Given the description of an element on the screen output the (x, y) to click on. 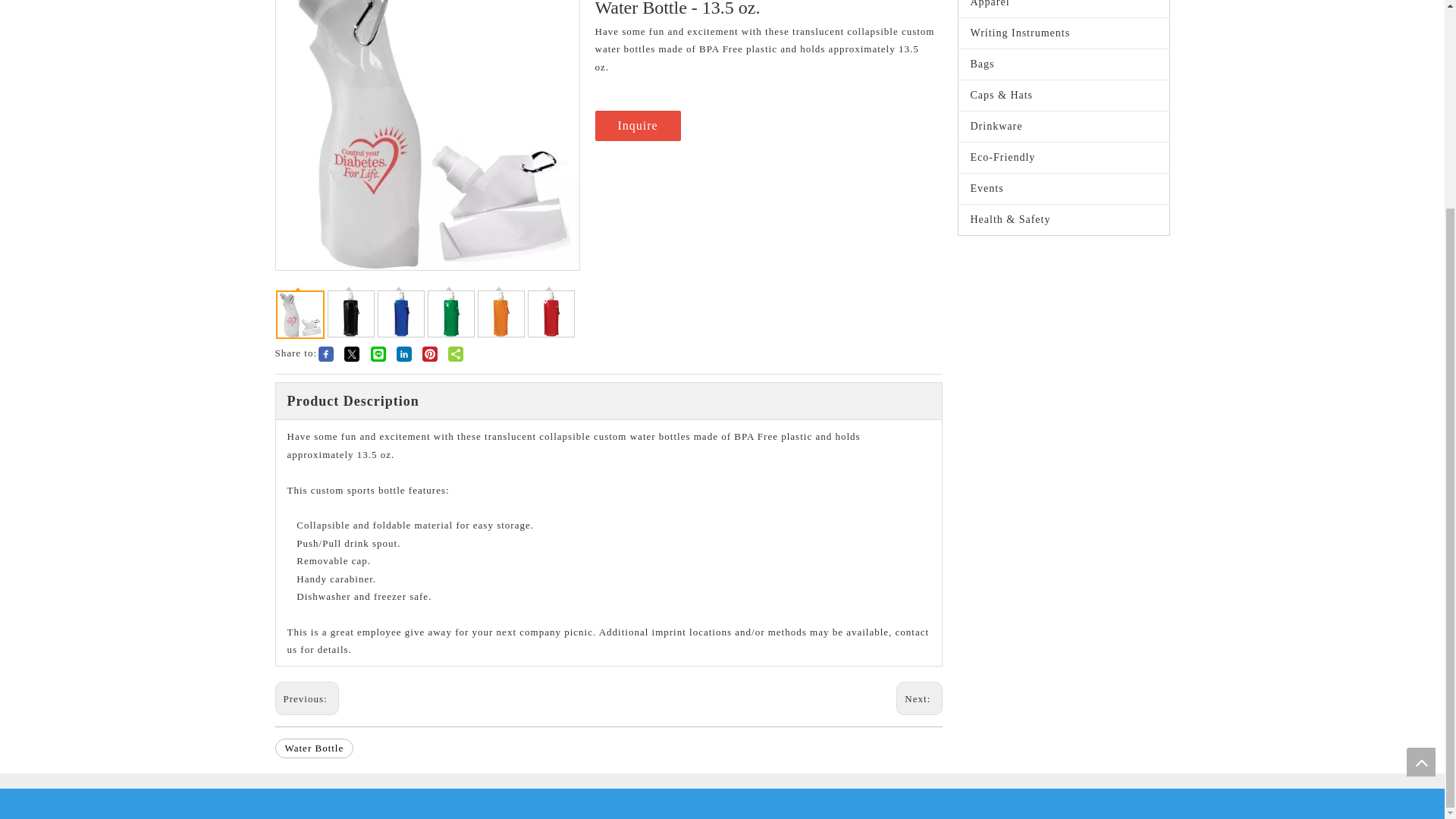
Water Bottle (314, 747)
Apparel (1063, 8)
Writing Instruments (1063, 33)
